Given the description of an element on the screen output the (x, y) to click on. 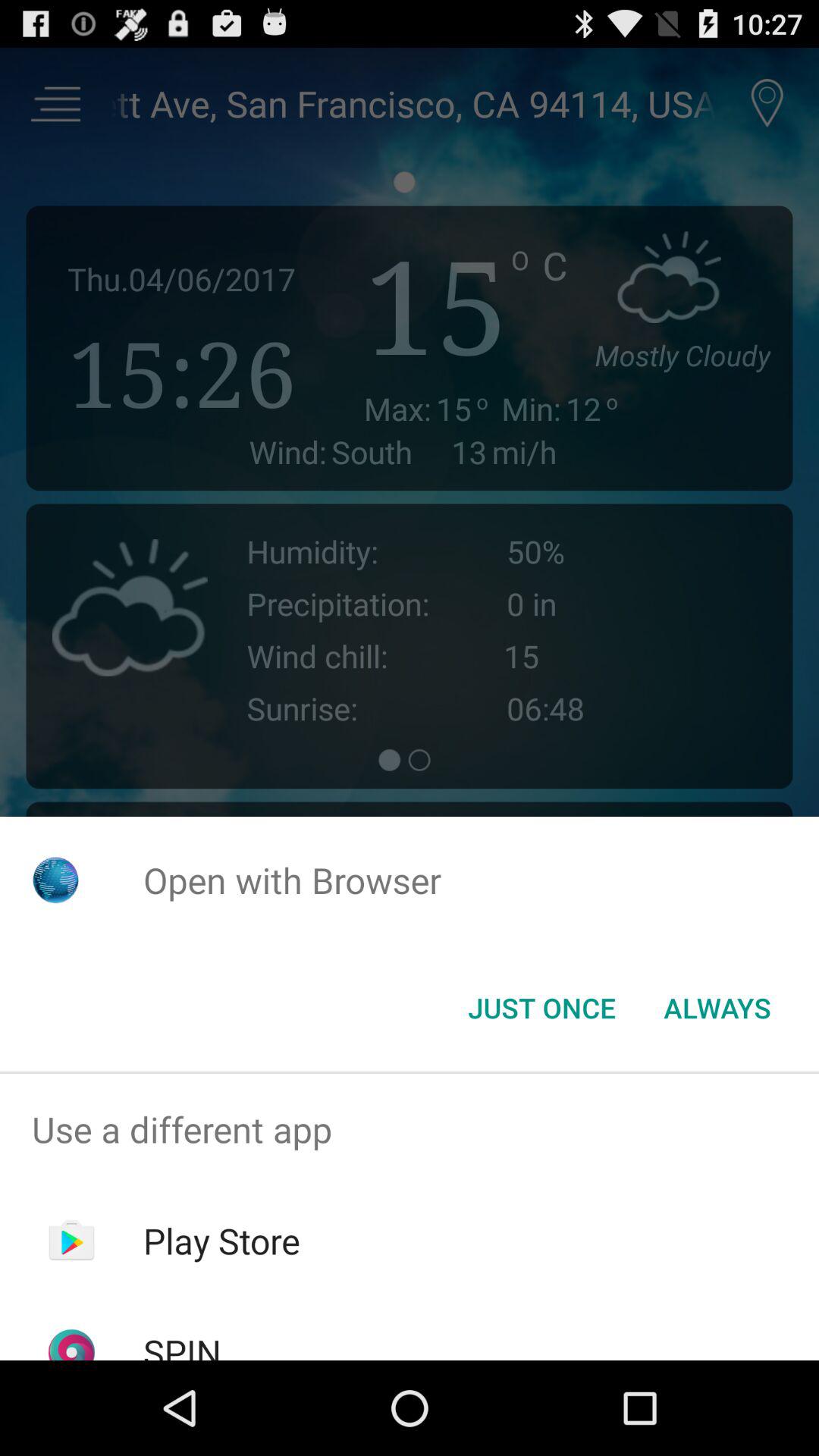
scroll until play store (221, 1240)
